Given the description of an element on the screen output the (x, y) to click on. 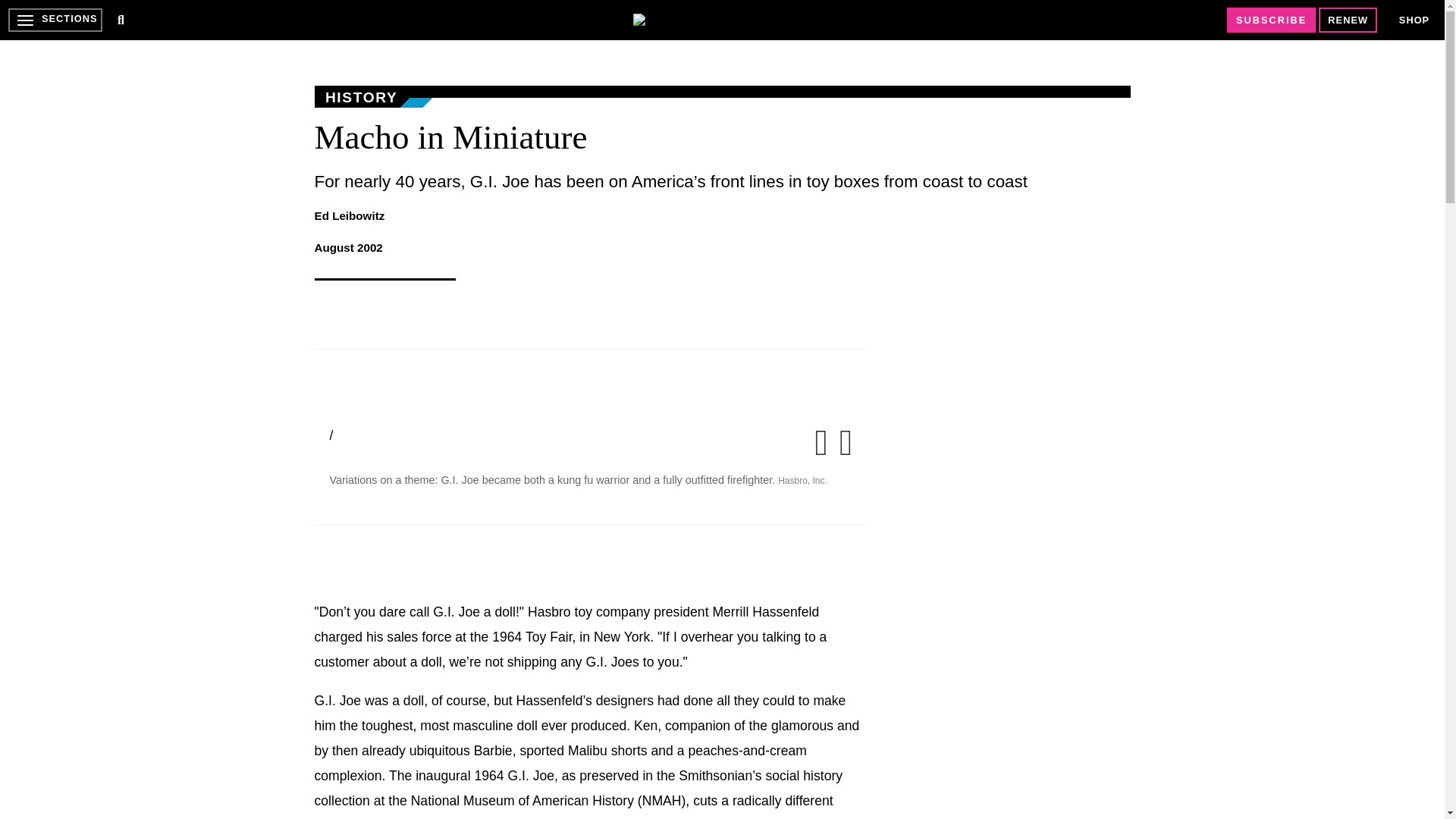
Next (842, 450)
SUBSCRIBE (1271, 19)
RENEW (1347, 19)
SHOP (1414, 19)
SHOP (1413, 19)
Previous (823, 450)
SECTIONS (55, 19)
RENEW (1348, 19)
SUBSCRIBE (1271, 19)
